Given the description of an element on the screen output the (x, y) to click on. 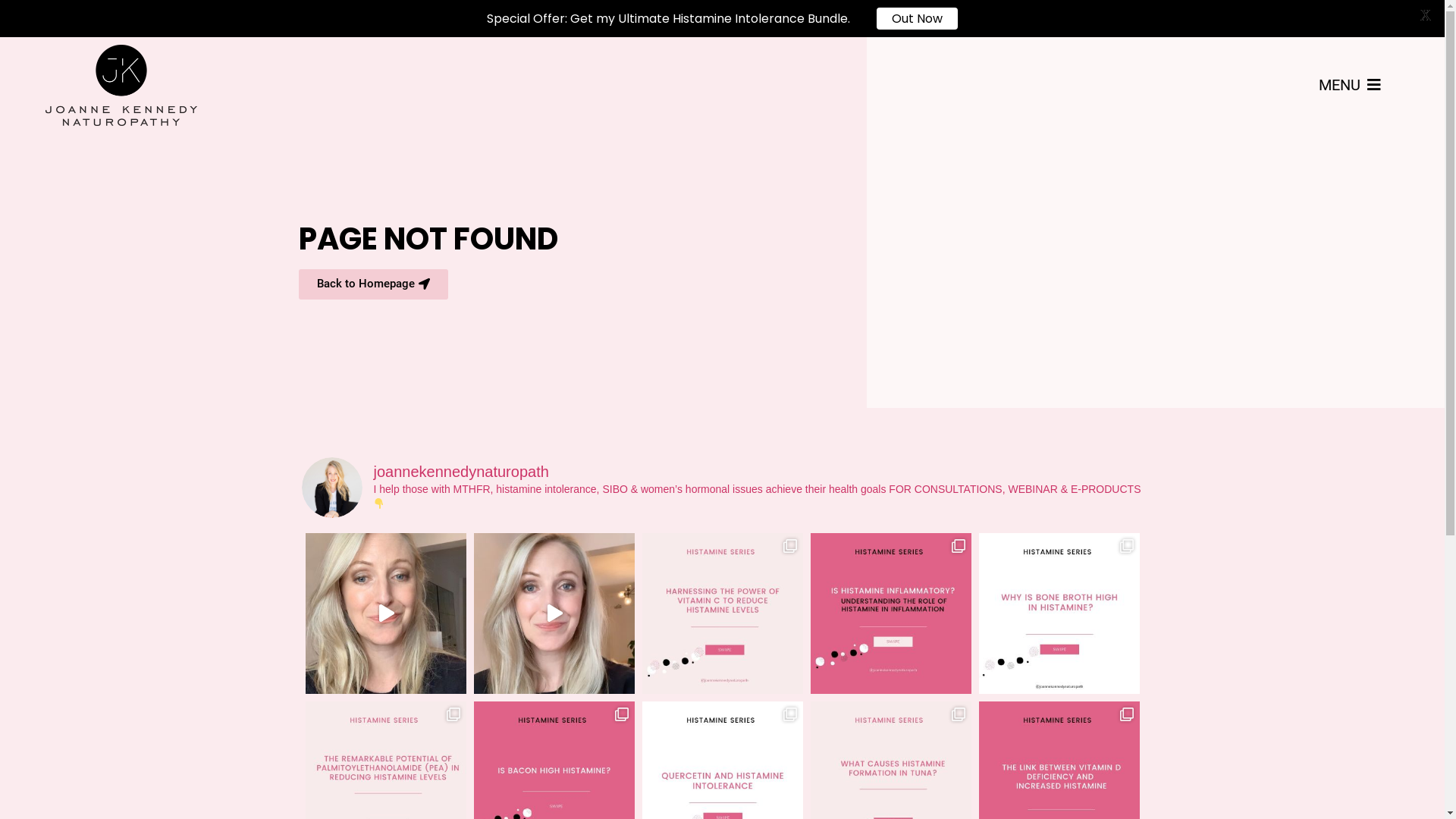
Out Now Element type: text (916, 18)
Back to Homepage Element type: text (373, 284)
X Element type: text (1425, 14)
MENU Element type: text (1349, 84)
